Given the description of an element on the screen output the (x, y) to click on. 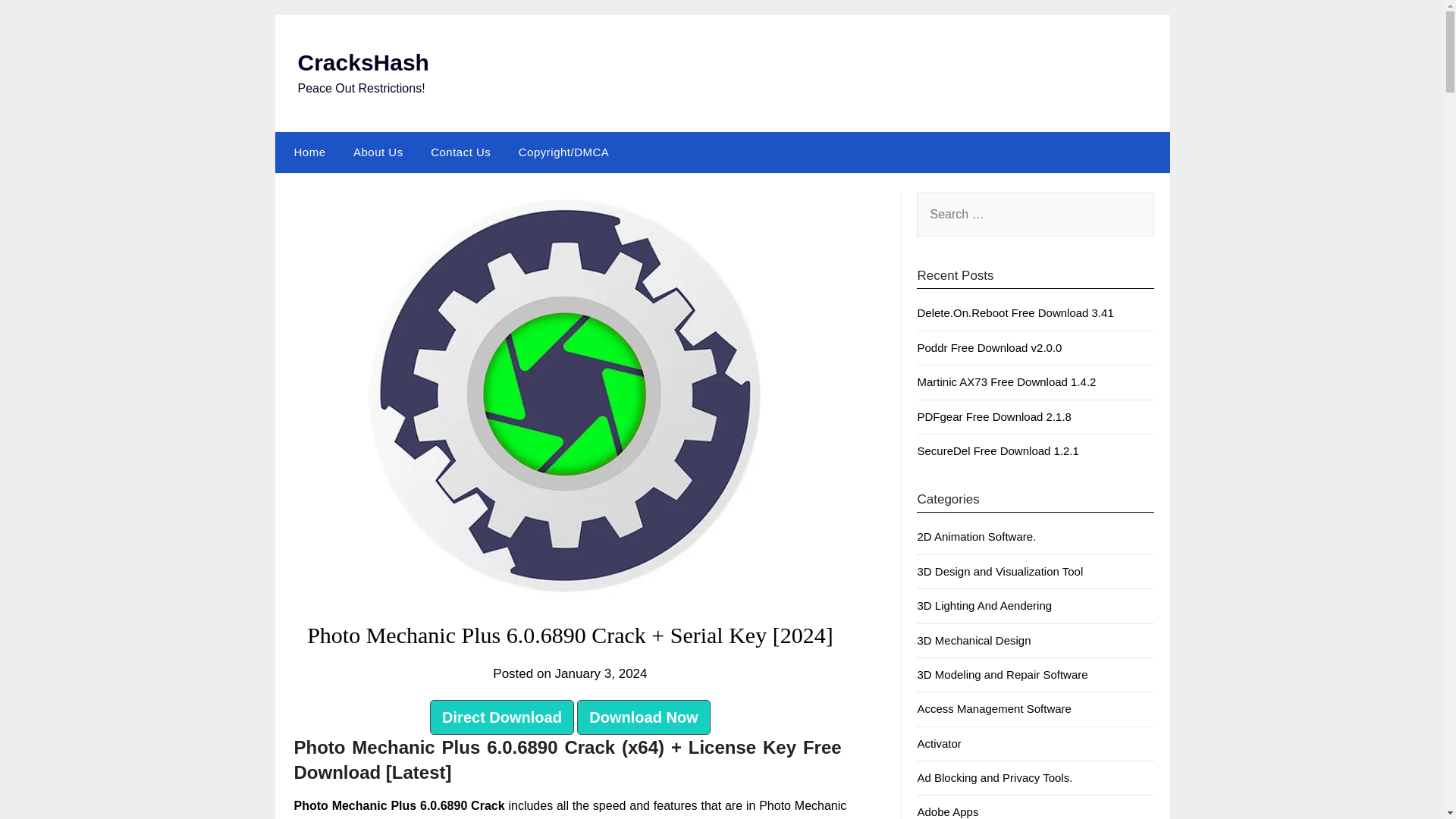
Delete.On.Reboot Free Download 3.41 (1015, 312)
3D Design and Visualization Tool (1000, 571)
Activator (938, 743)
2D Animation Software. (976, 535)
SecureDel Free Download 1.2.1 (997, 450)
PDFgear Free Download 2.1.8 (993, 416)
Access Management Software (993, 707)
Poddr Free Download v2.0.0 (989, 347)
Download Now (643, 717)
Search (38, 22)
